Given the description of an element on the screen output the (x, y) to click on. 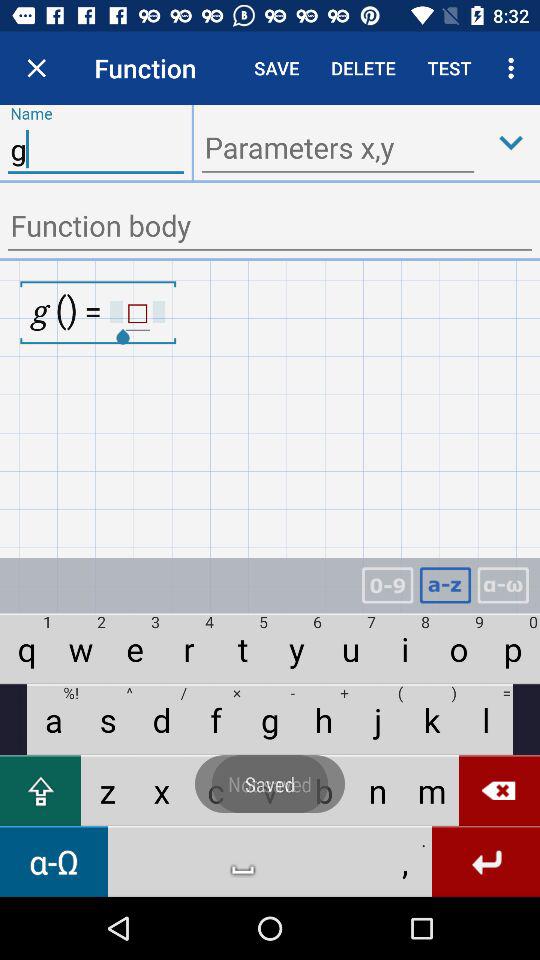
toggle letter option (445, 585)
